Given the description of an element on the screen output the (x, y) to click on. 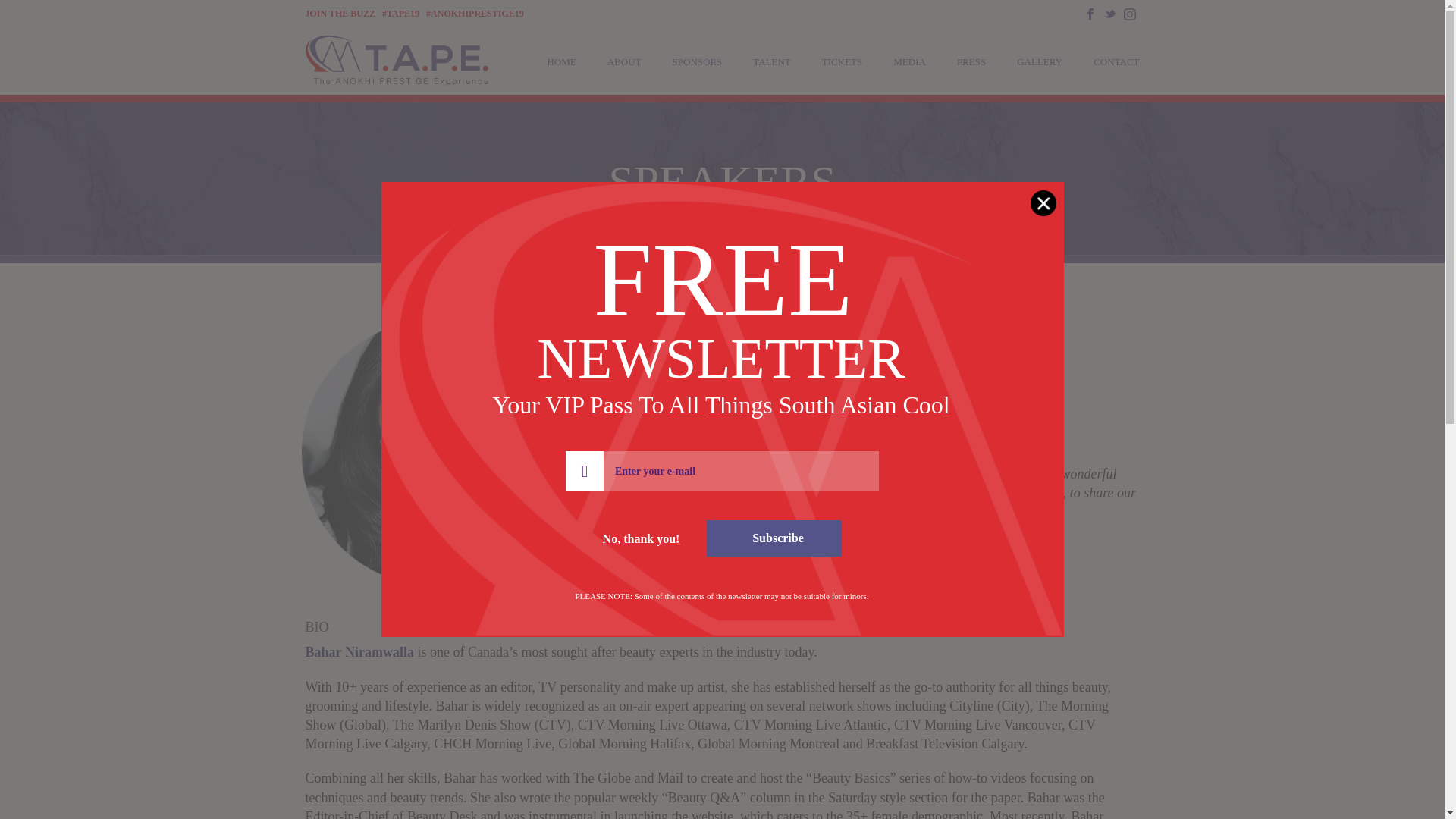
CONTACT (1116, 60)
GALLERY (1039, 60)
MEDIA (908, 60)
TALENT (772, 60)
SPONSORS (698, 60)
SPONSORS (698, 60)
ABOUT (624, 60)
CONTACT (1116, 60)
TALENT (772, 60)
TICKETS (841, 60)
